Given the description of an element on the screen output the (x, y) to click on. 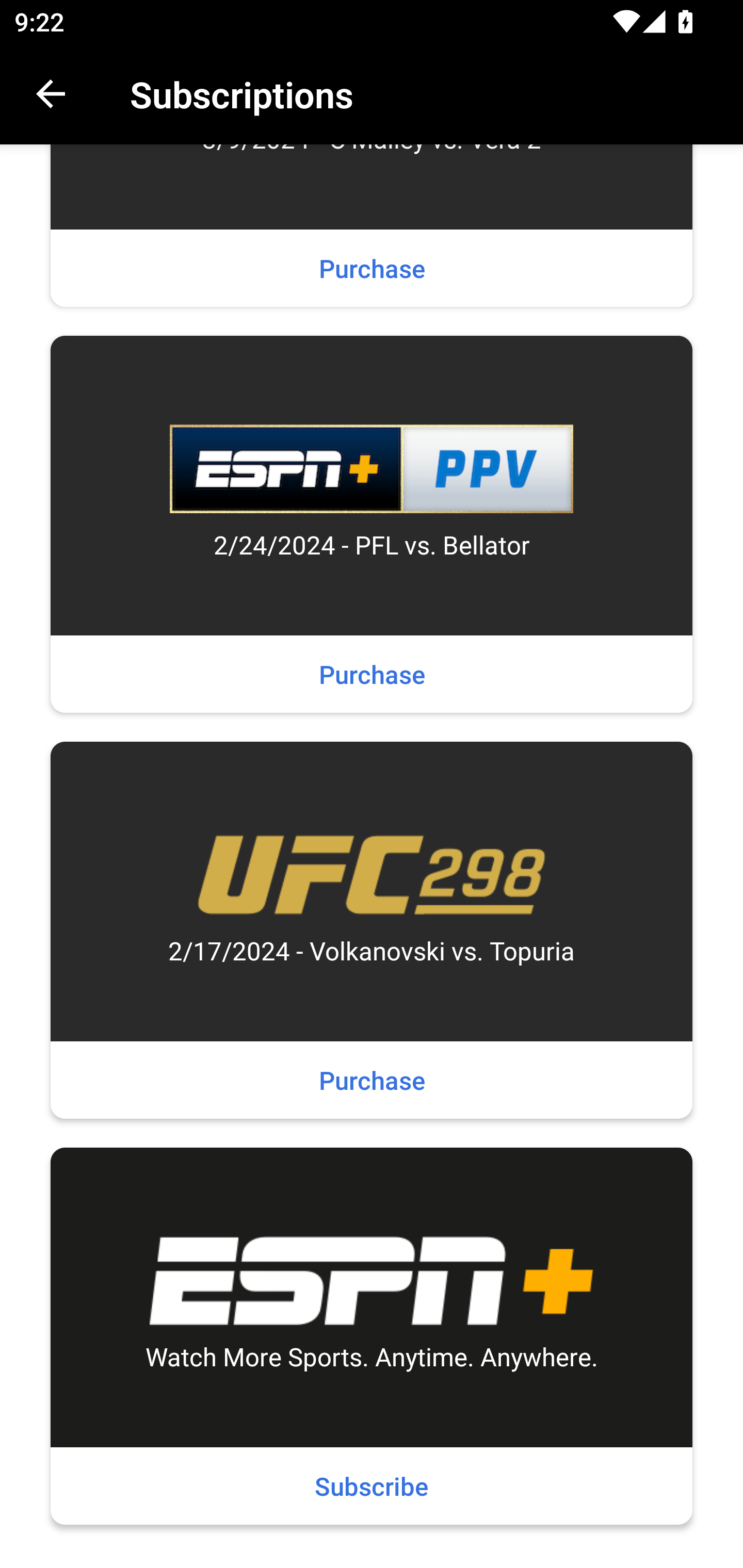
back.button (50, 93)
Purchase (371, 268)
Purchase (371, 674)
Purchase (371, 1079)
Subscribe (371, 1485)
